Given the description of an element on the screen output the (x, y) to click on. 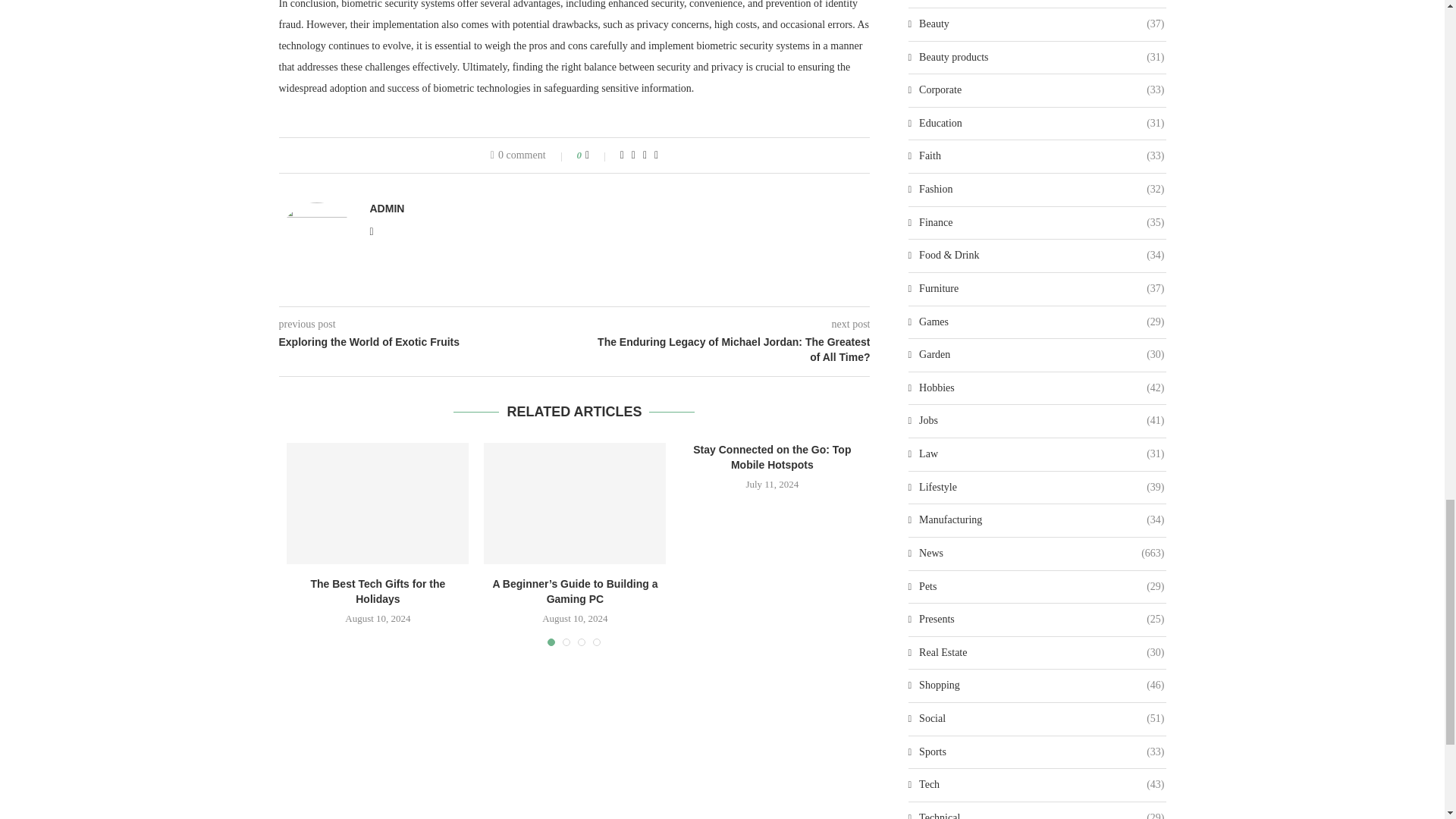
Like (597, 155)
Author admin (386, 208)
The Best Tech Gifts for the Holidays (377, 503)
